Given the description of an element on the screen output the (x, y) to click on. 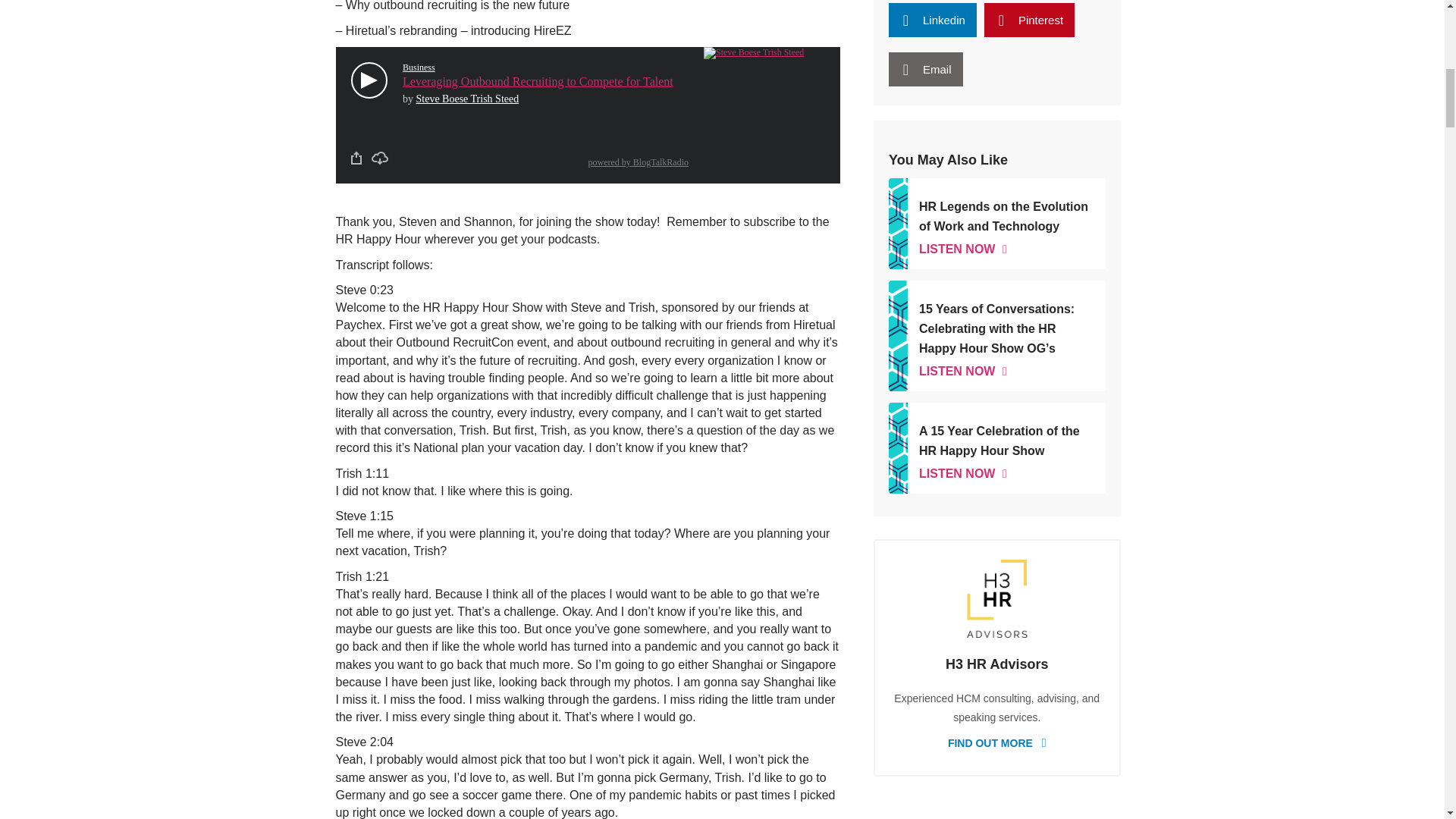
Linkedin (932, 19)
FIND OUT MORE (996, 742)
Email (925, 69)
Pinterest (1029, 19)
